Given the description of an element on the screen output the (x, y) to click on. 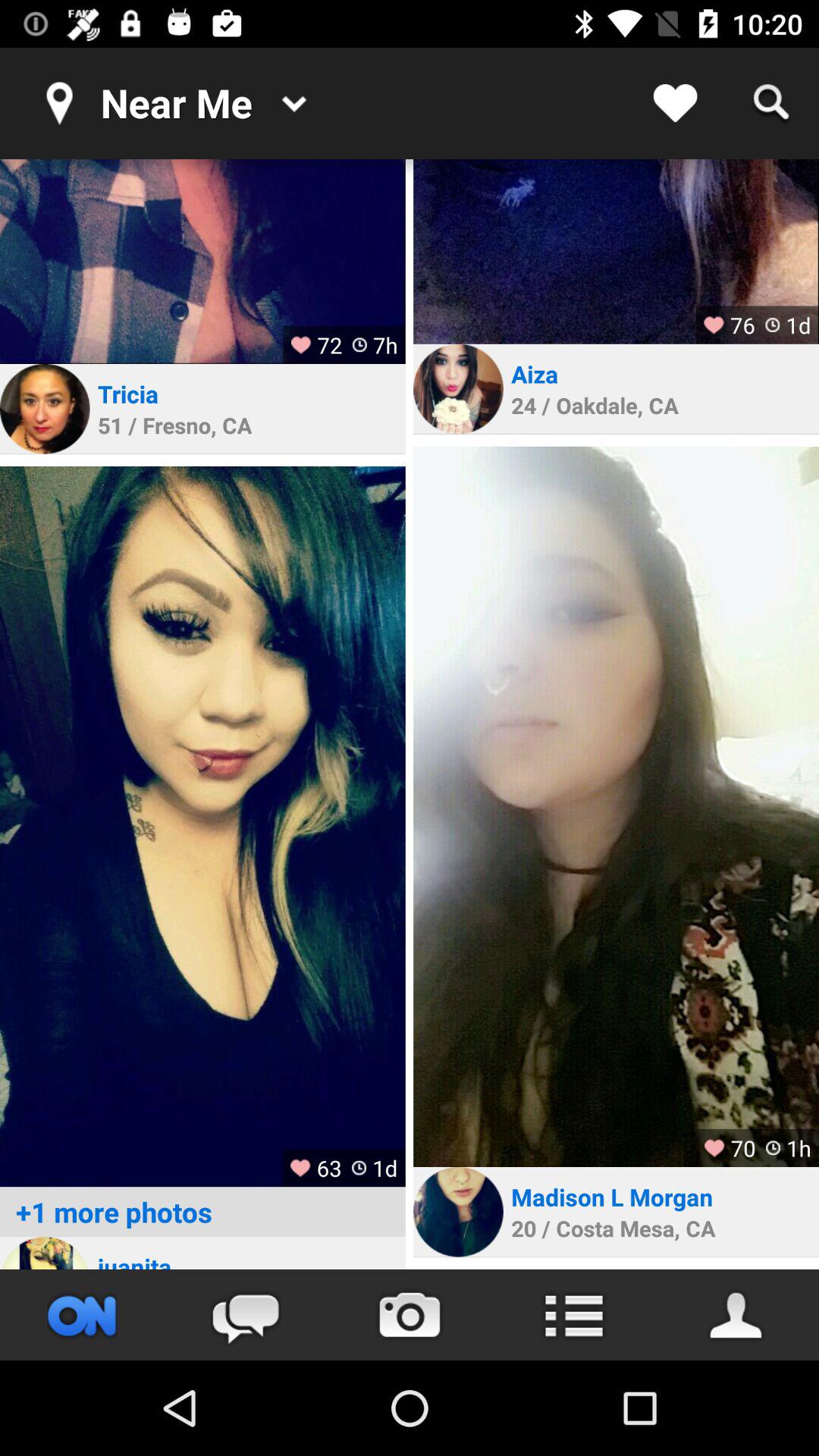
go chat (245, 1315)
